Given the description of an element on the screen output the (x, y) to click on. 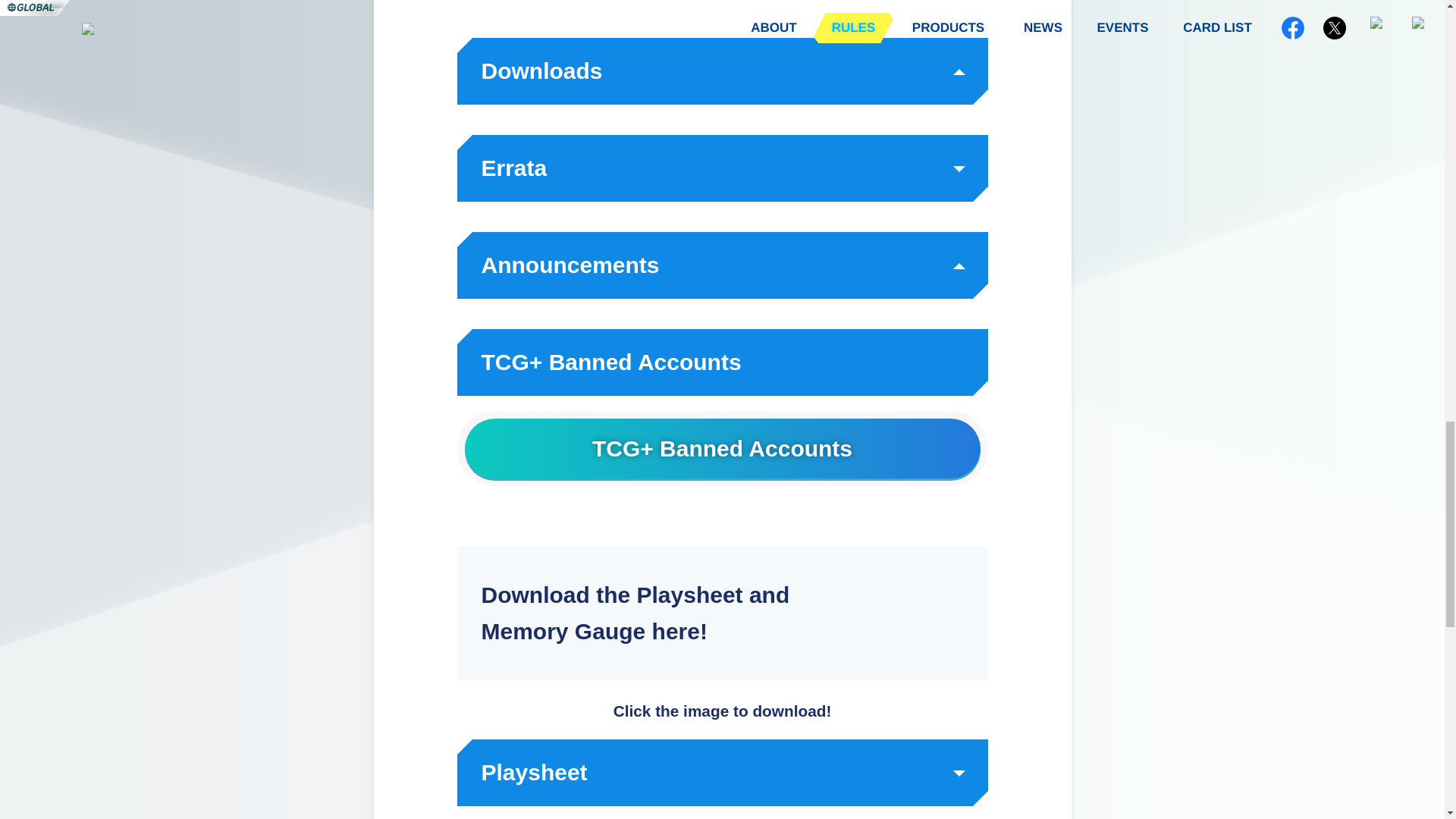
Downloads (722, 71)
